Given the description of an element on the screen output the (x, y) to click on. 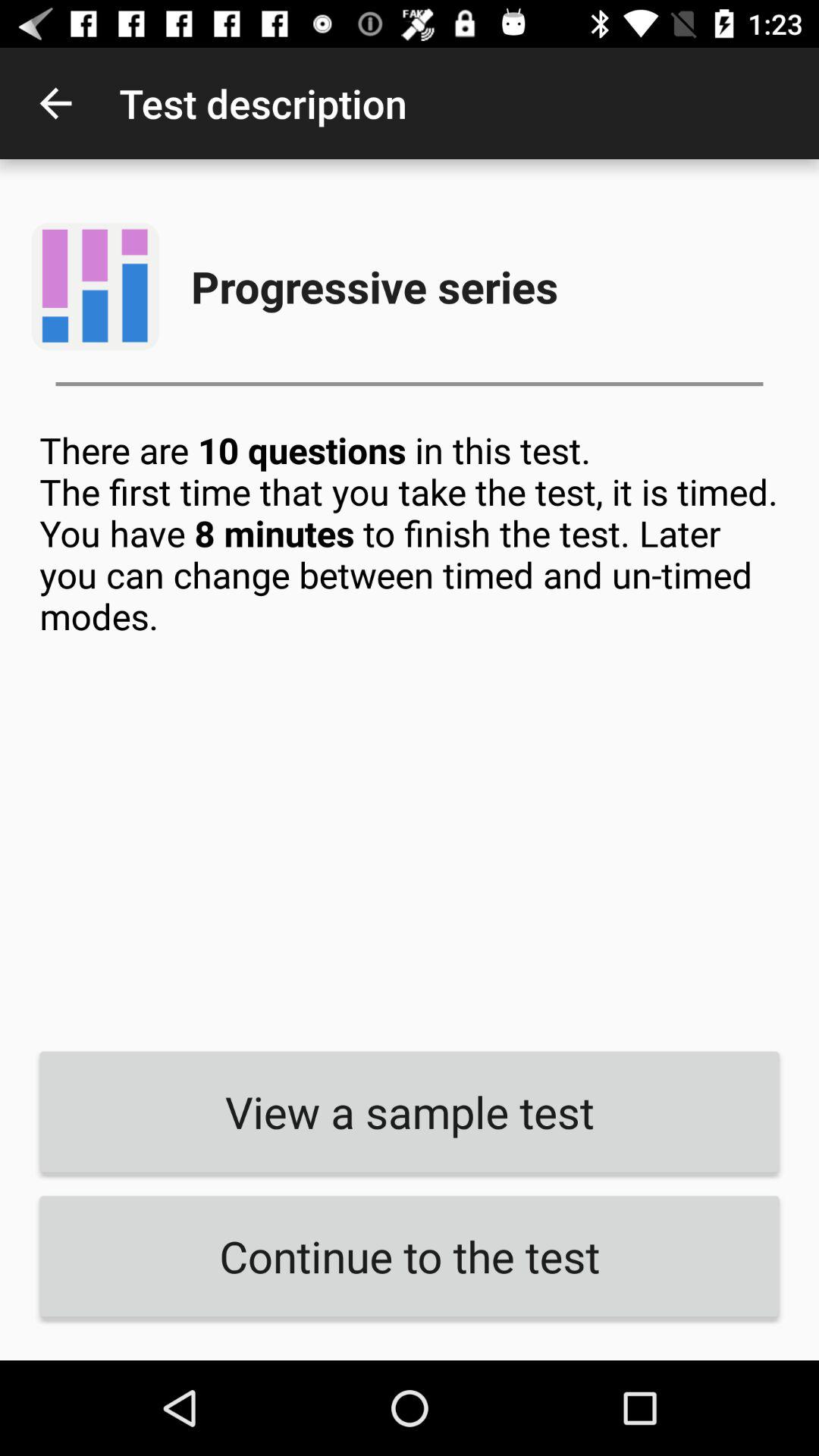
turn off the view a sample icon (409, 1111)
